Given the description of an element on the screen output the (x, y) to click on. 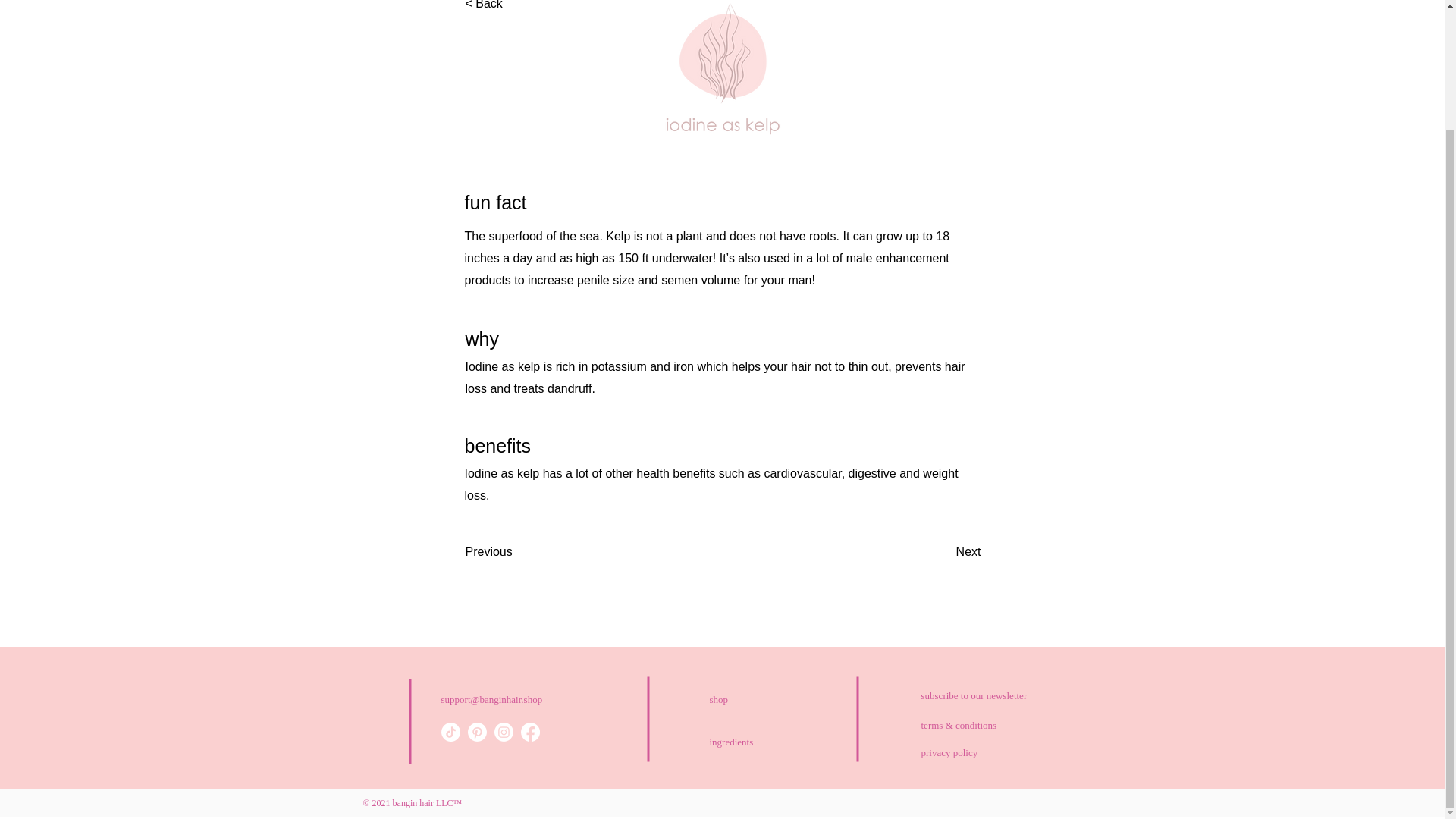
shop (763, 699)
iodine as kelp (721, 79)
subscribe to our newsletter (996, 695)
ingredients (763, 742)
privacy policy (1006, 753)
Next (943, 552)
Previous (515, 552)
